Given the description of an element on the screen output the (x, y) to click on. 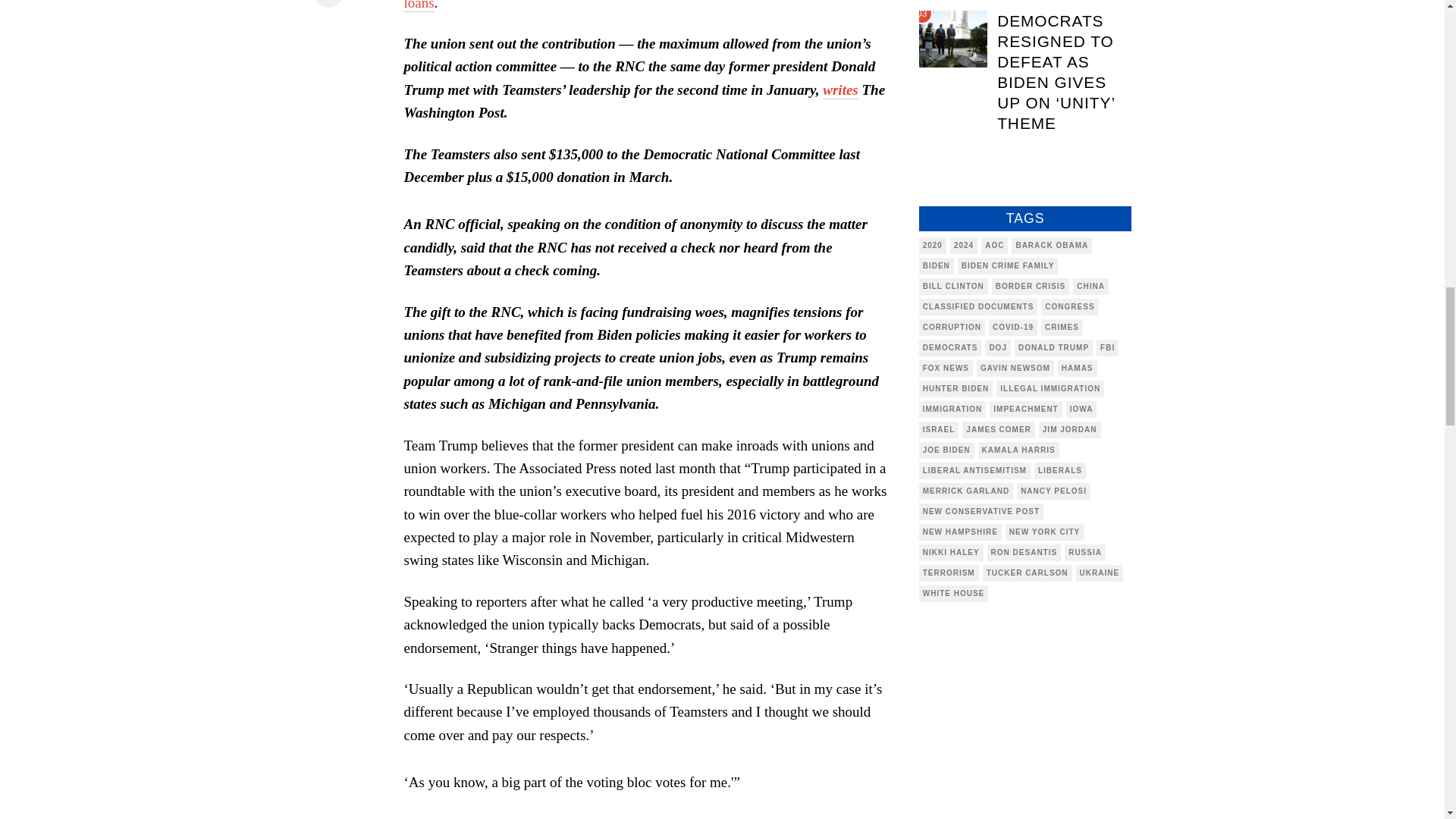
writes (839, 89)
